Given the description of an element on the screen output the (x, y) to click on. 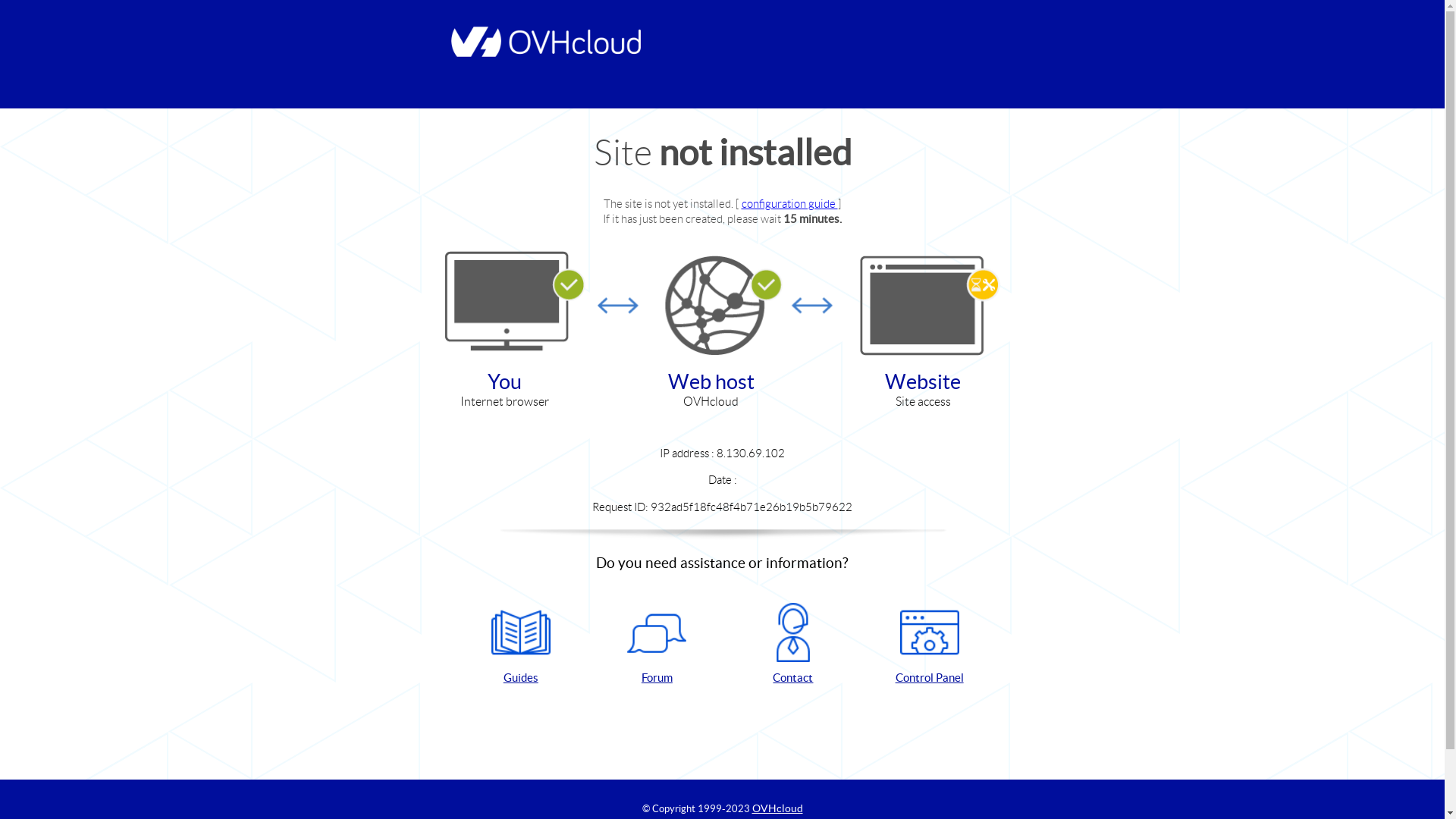
Guides Element type: text (520, 644)
configuration guide Element type: text (789, 203)
OVHcloud Element type: text (777, 808)
Forum Element type: text (656, 644)
Contact Element type: text (792, 644)
Control Panel Element type: text (929, 644)
